Given the description of an element on the screen output the (x, y) to click on. 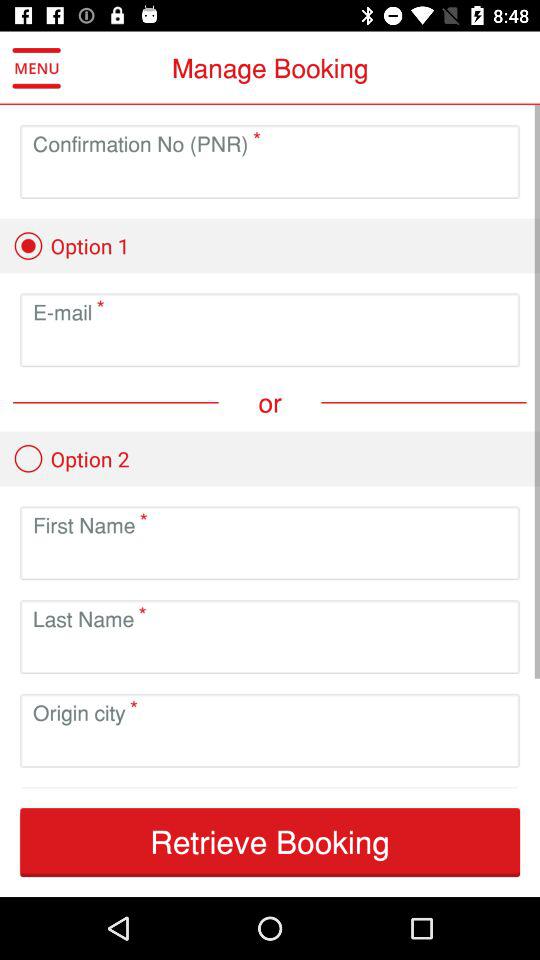
put your birth city (270, 746)
